Given the description of an element on the screen output the (x, y) to click on. 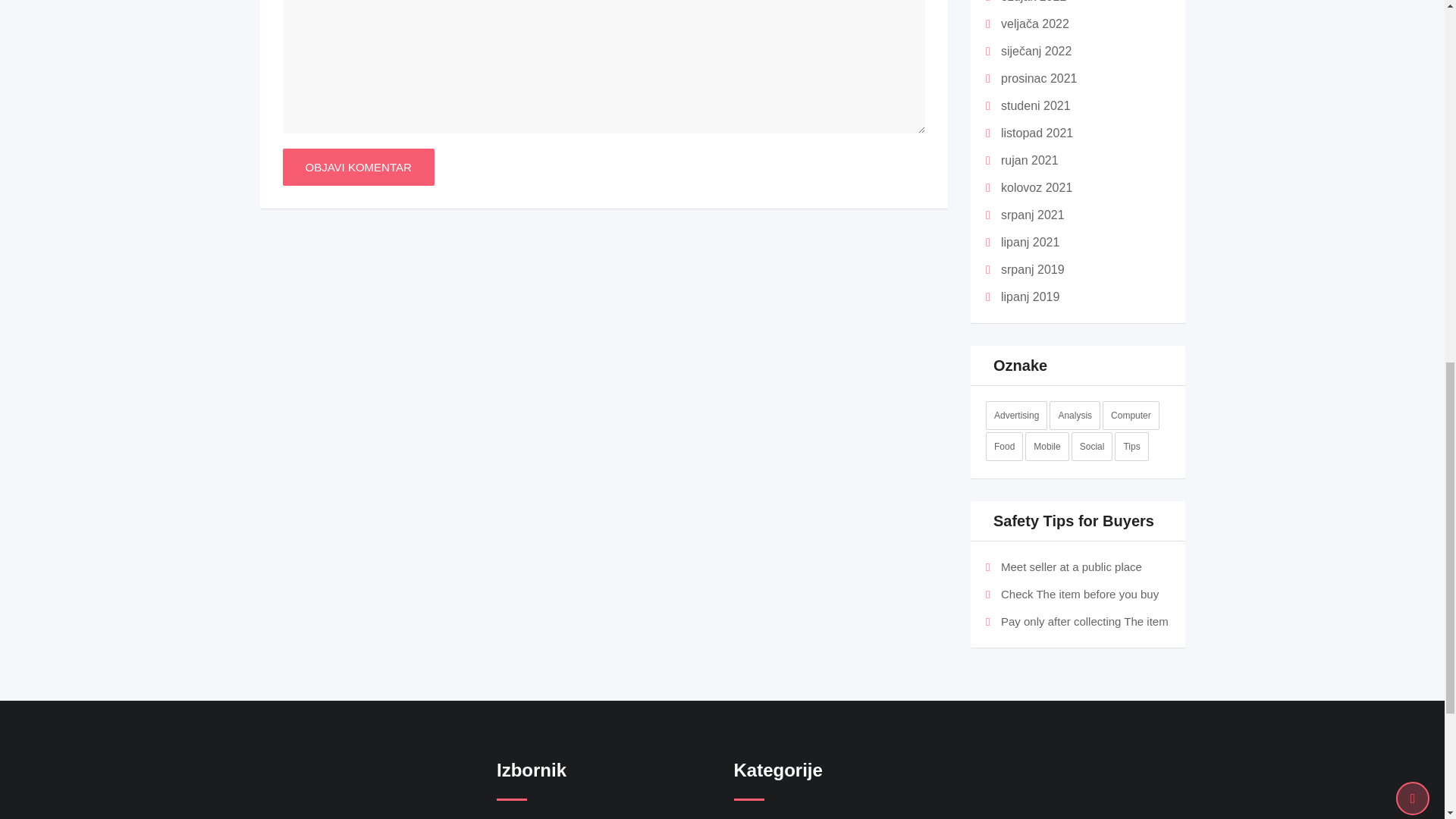
Objavi komentar (357, 166)
studeni 2021 (1035, 105)
prosinac 2021 (1039, 78)
Objavi komentar (357, 166)
